Given the description of an element on the screen output the (x, y) to click on. 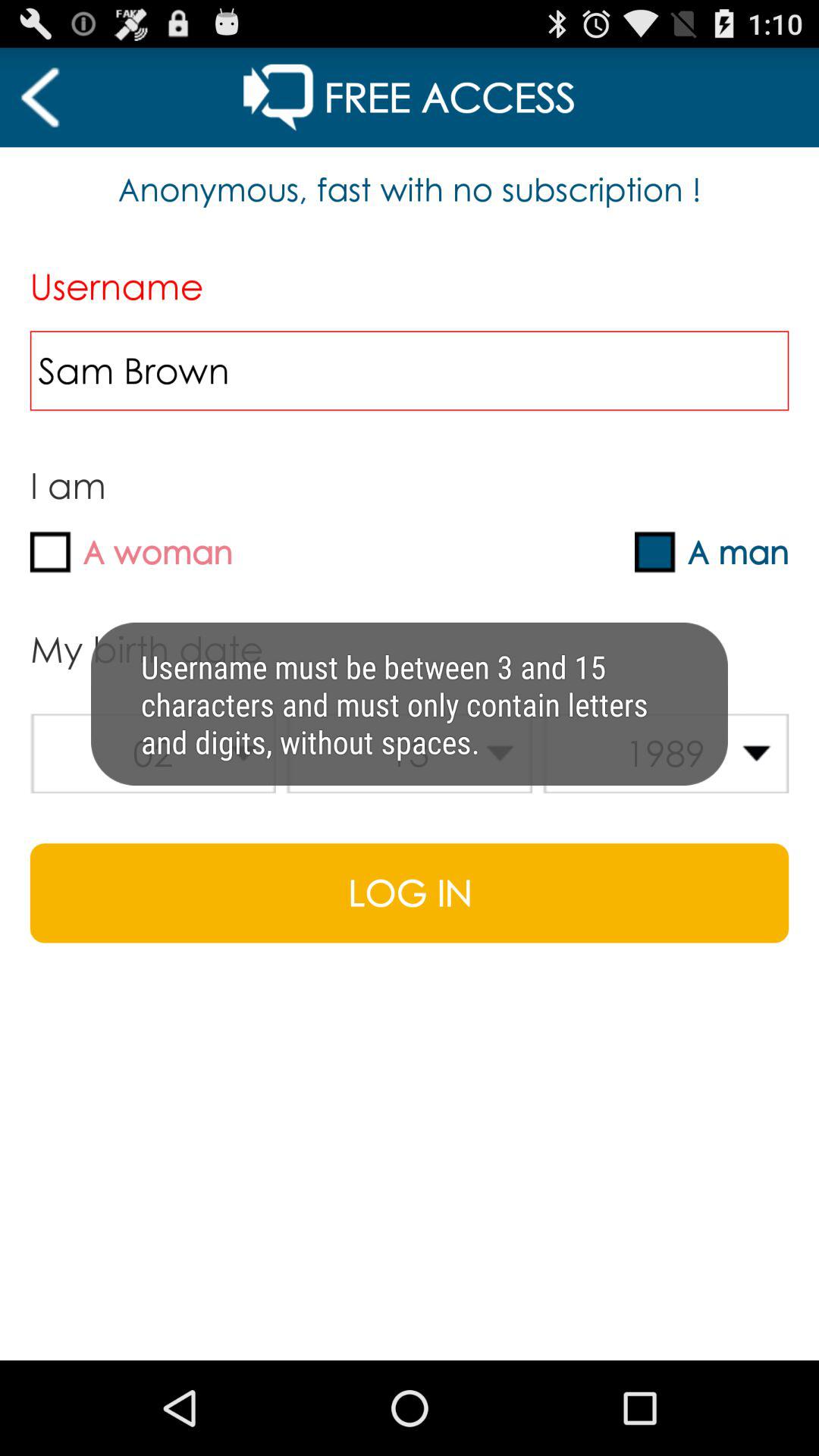
check (655, 552)
